Given the description of an element on the screen output the (x, y) to click on. 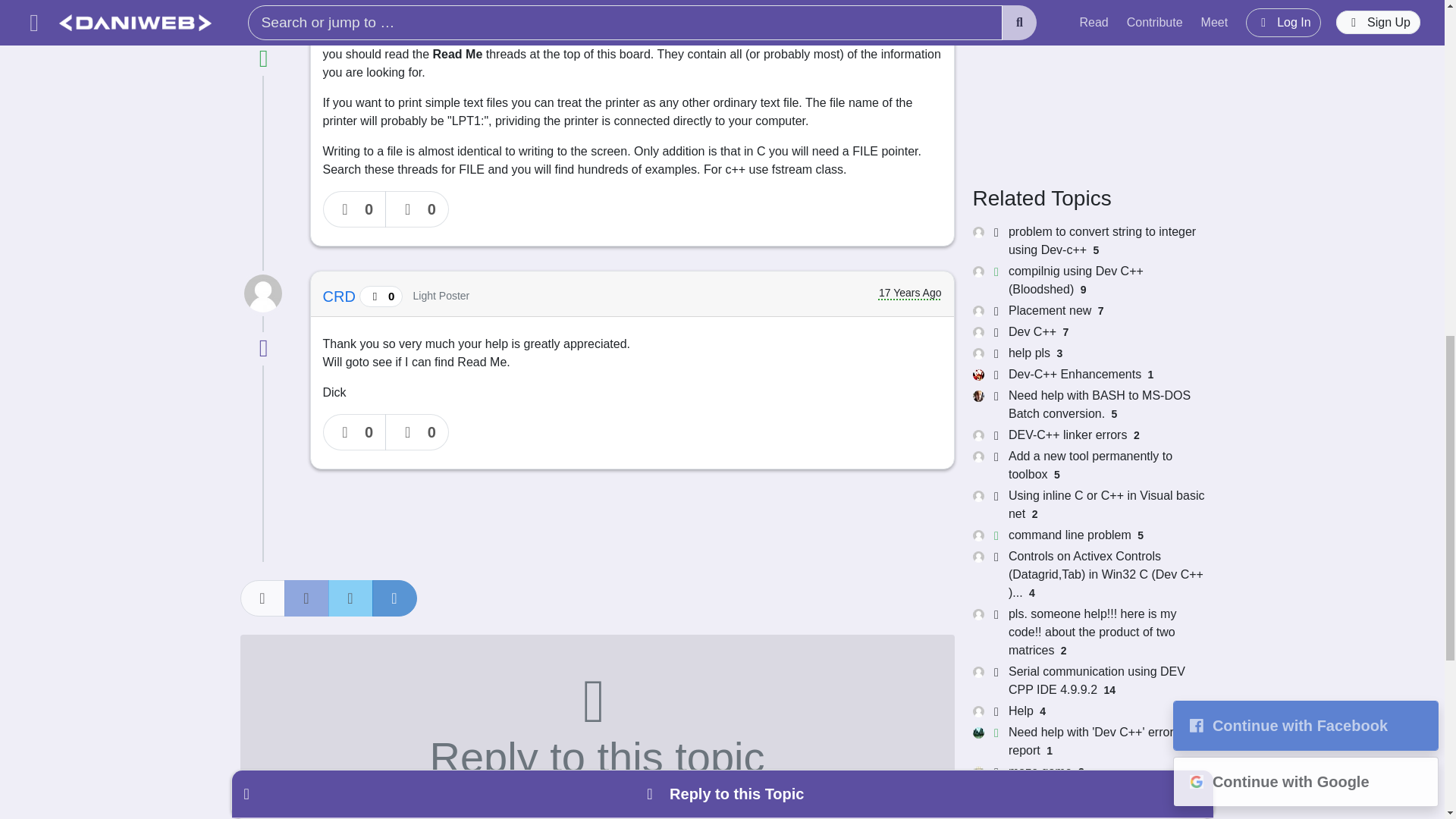
help pls 3 (1088, 352)
Placement new 7 (1088, 311)
0 (416, 208)
0 (355, 208)
Facebook (306, 597)
Reply to this topic (596, 726)
0 (355, 432)
CRD (341, 296)
Share (261, 597)
Ancient Dragon (376, 7)
